Given the description of an element on the screen output the (x, y) to click on. 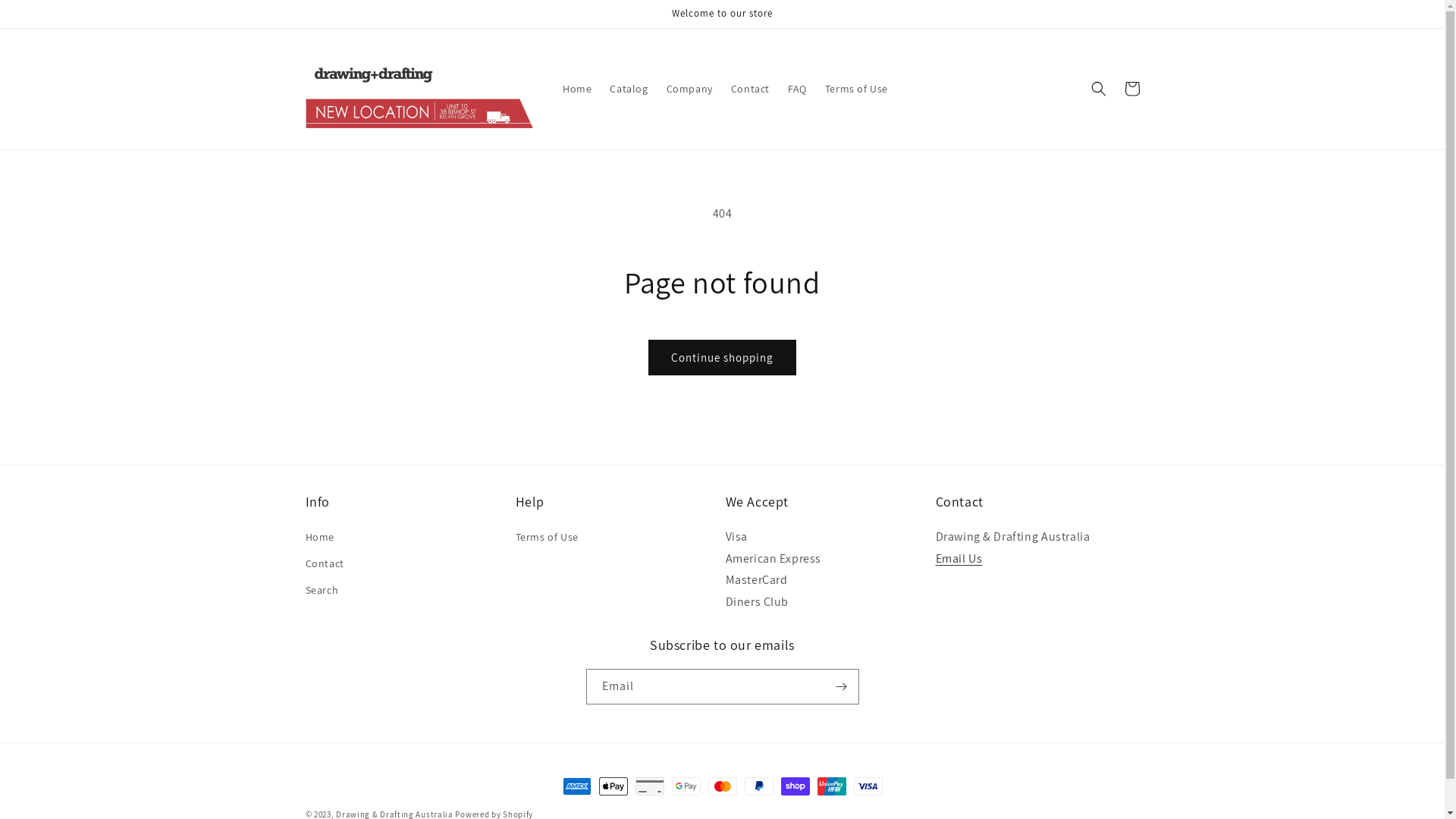
Home Element type: text (318, 538)
Terms of Use Element type: text (546, 538)
Cart Element type: text (1131, 88)
Contact Element type: text (749, 88)
Home Element type: text (576, 88)
Email Us Element type: text (958, 558)
Terms of Use Element type: text (856, 88)
Catalog Element type: text (628, 88)
Continue shopping Element type: text (722, 357)
Contact Element type: text (323, 563)
FAQ Element type: text (796, 88)
Company Element type: text (689, 88)
Search Element type: text (321, 590)
